Given the description of an element on the screen output the (x, y) to click on. 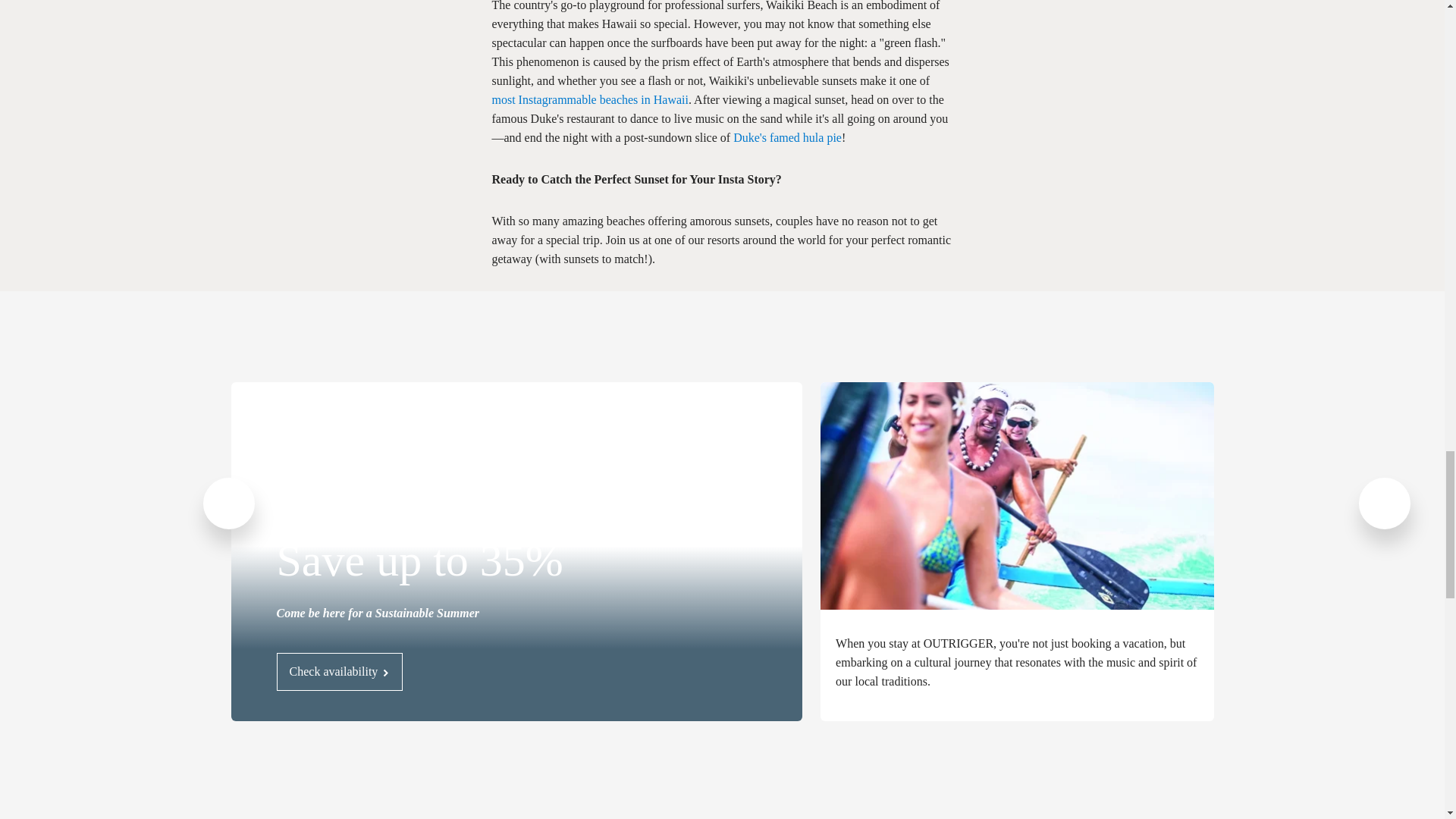
Check availability (339, 671)
Duke's famed hula pie (787, 137)
most Instagrammable beaches in Hawaii (589, 99)
